Given the description of an element on the screen output the (x, y) to click on. 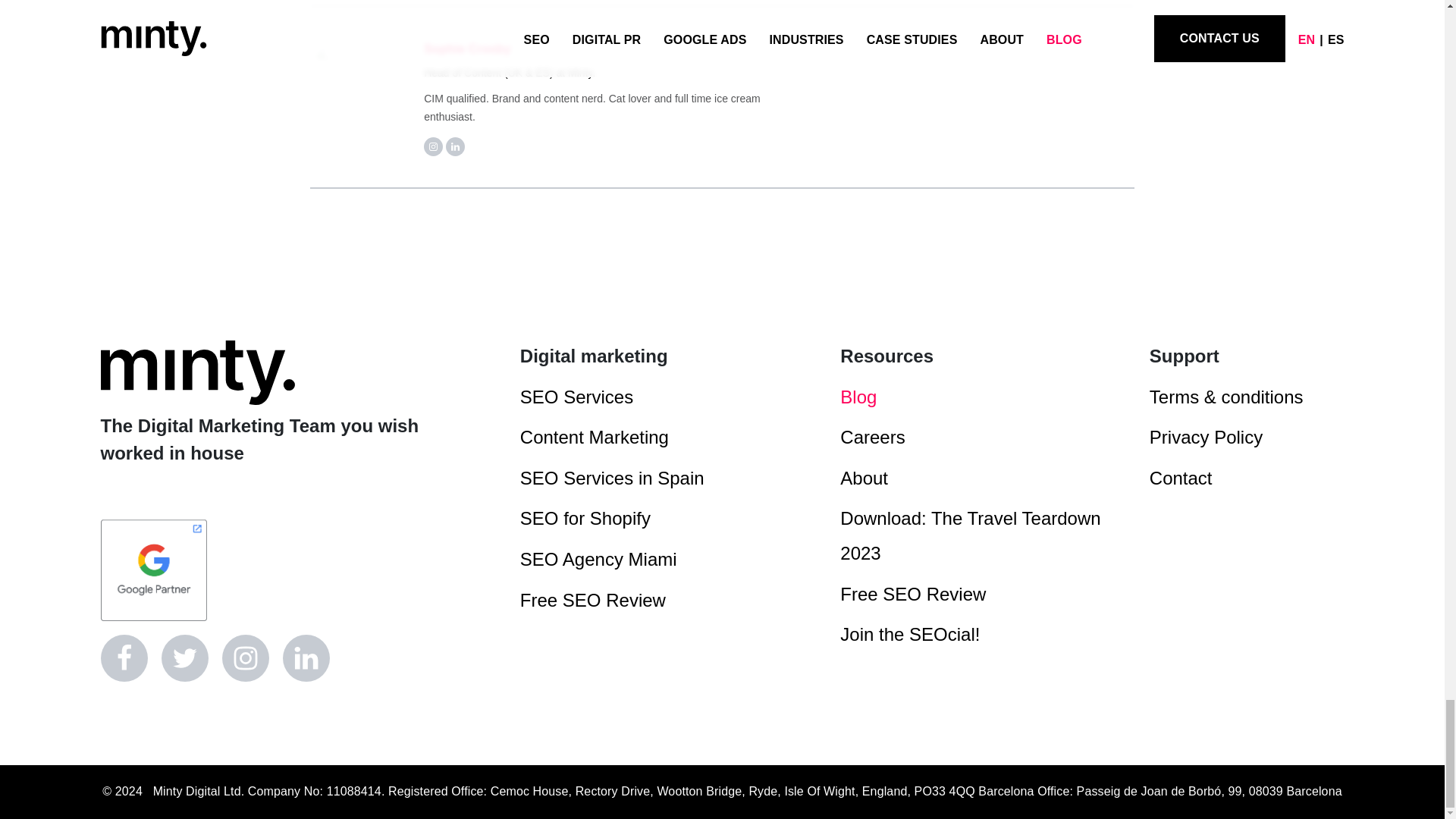
Twitter (184, 657)
Facebook (123, 657)
Sophie Crosby (467, 48)
LinkedIn (305, 657)
Instagram (244, 657)
